Given the description of an element on the screen output the (x, y) to click on. 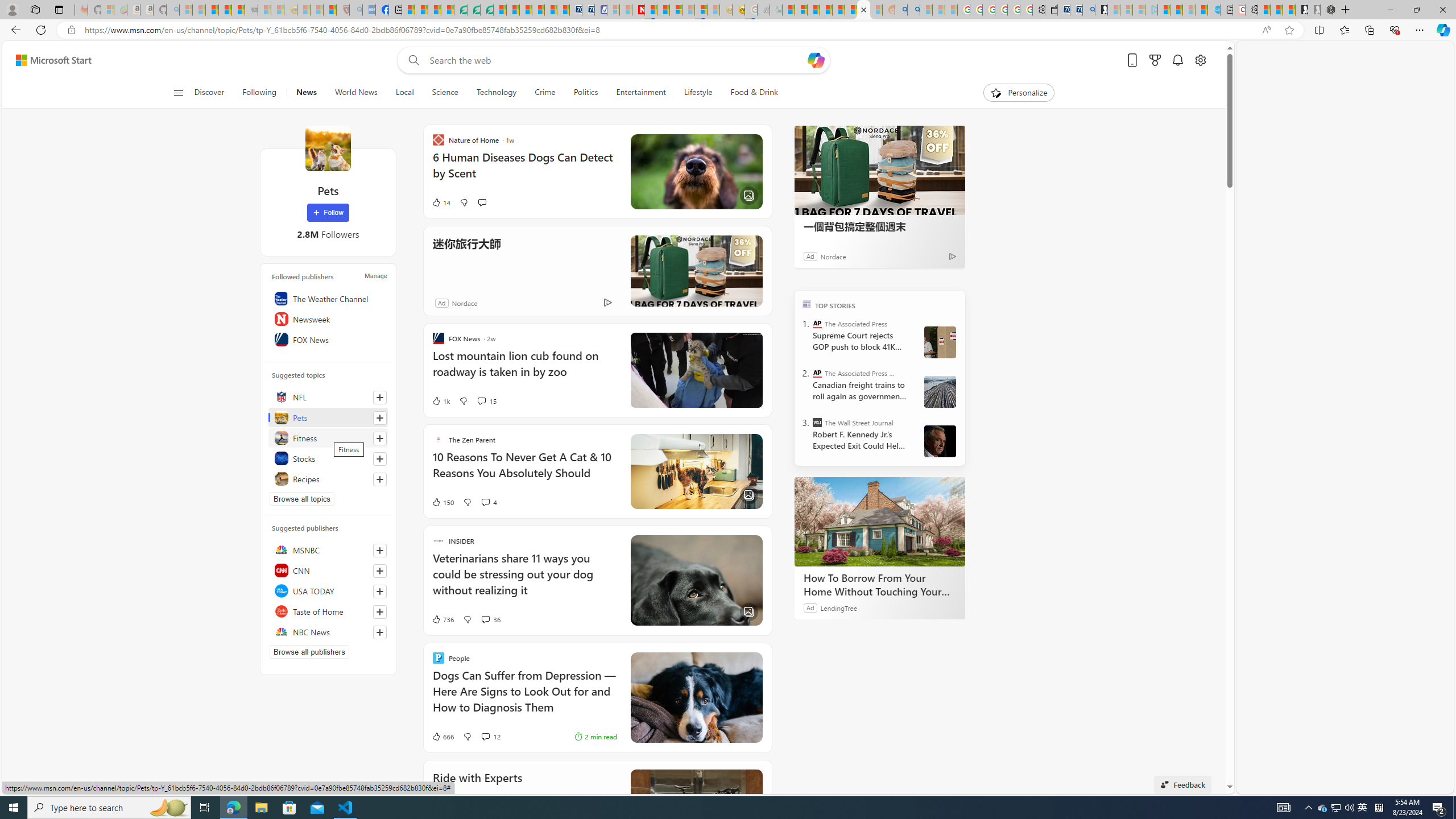
App bar (728, 29)
Skip to footer (46, 59)
Combat Siege (251, 9)
Fitness (327, 437)
New Report Confirms 2023 Was Record Hot | Watch (237, 9)
Collections (1369, 29)
Open settings (1199, 60)
USA TODAY (327, 590)
View comments 36 Comment (490, 619)
14 Common Myths Debunked By Scientific Facts (663, 9)
